Given the description of an element on the screen output the (x, y) to click on. 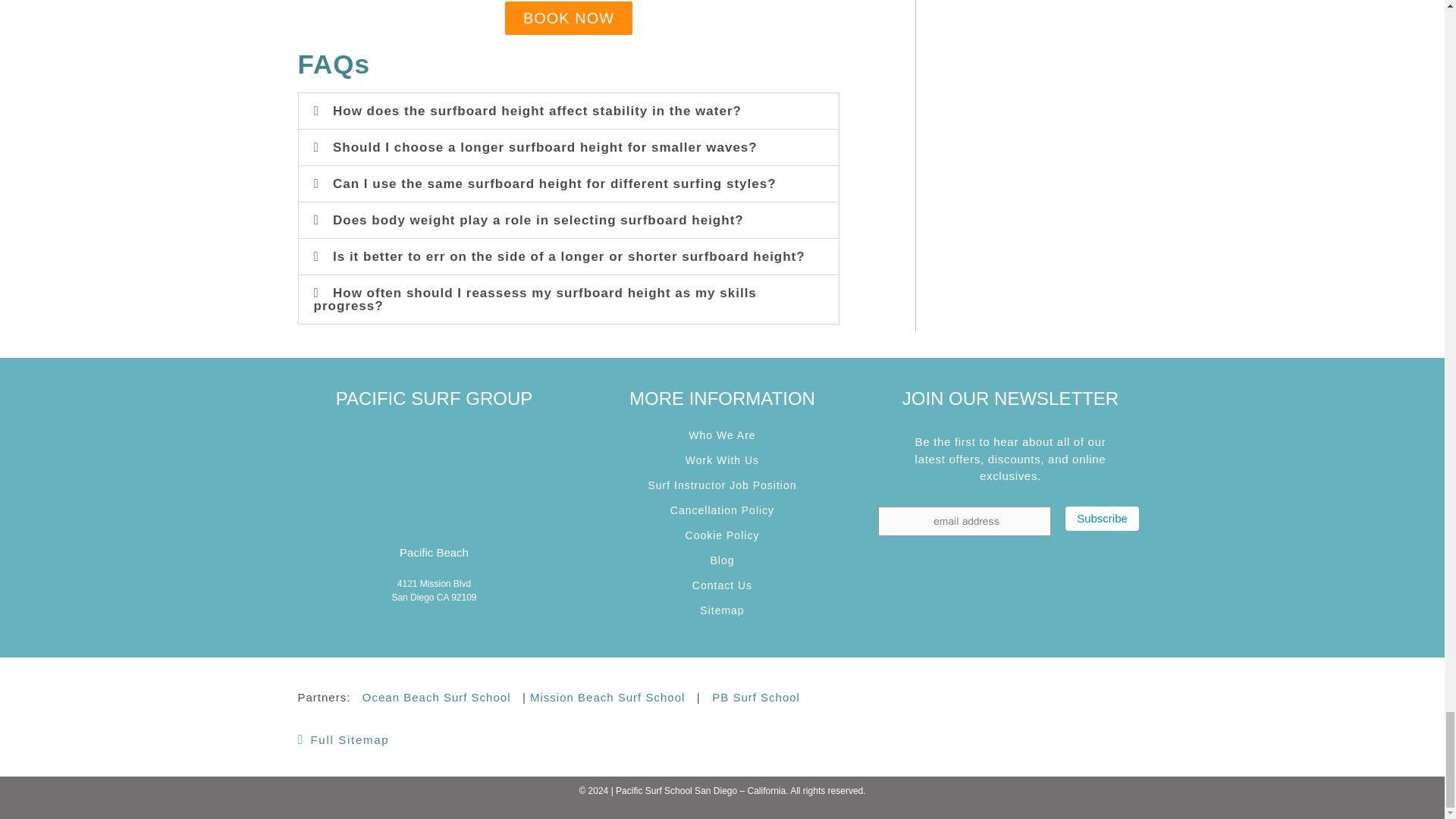
Subscribe (1101, 518)
